Given the description of an element on the screen output the (x, y) to click on. 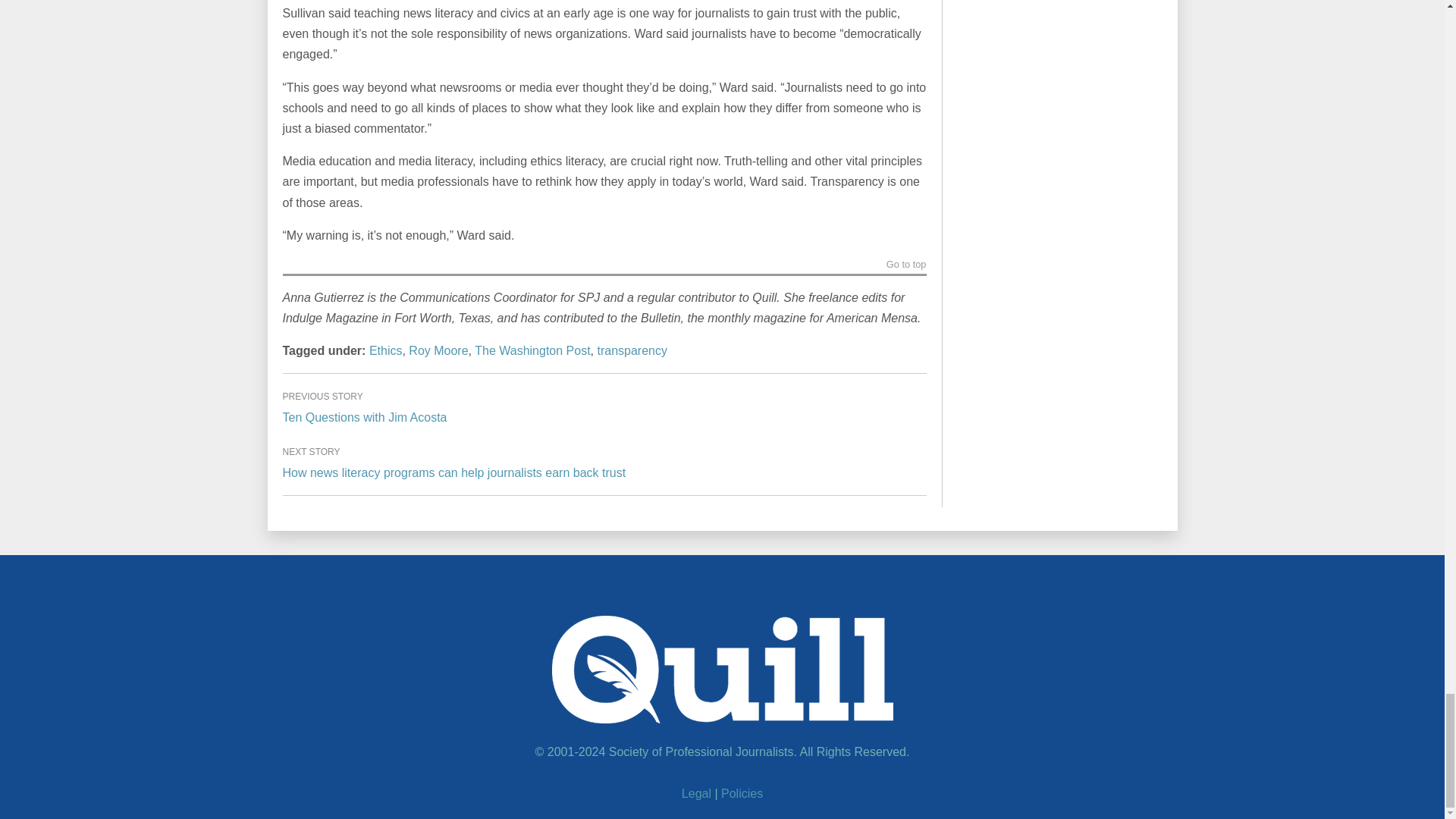
Ethics (386, 350)
Roy Moore (438, 350)
The Washington Post (531, 350)
transparency (631, 350)
Go to top (906, 266)
Ten Questions with Jim Acosta (364, 417)
